Given the description of an element on the screen output the (x, y) to click on. 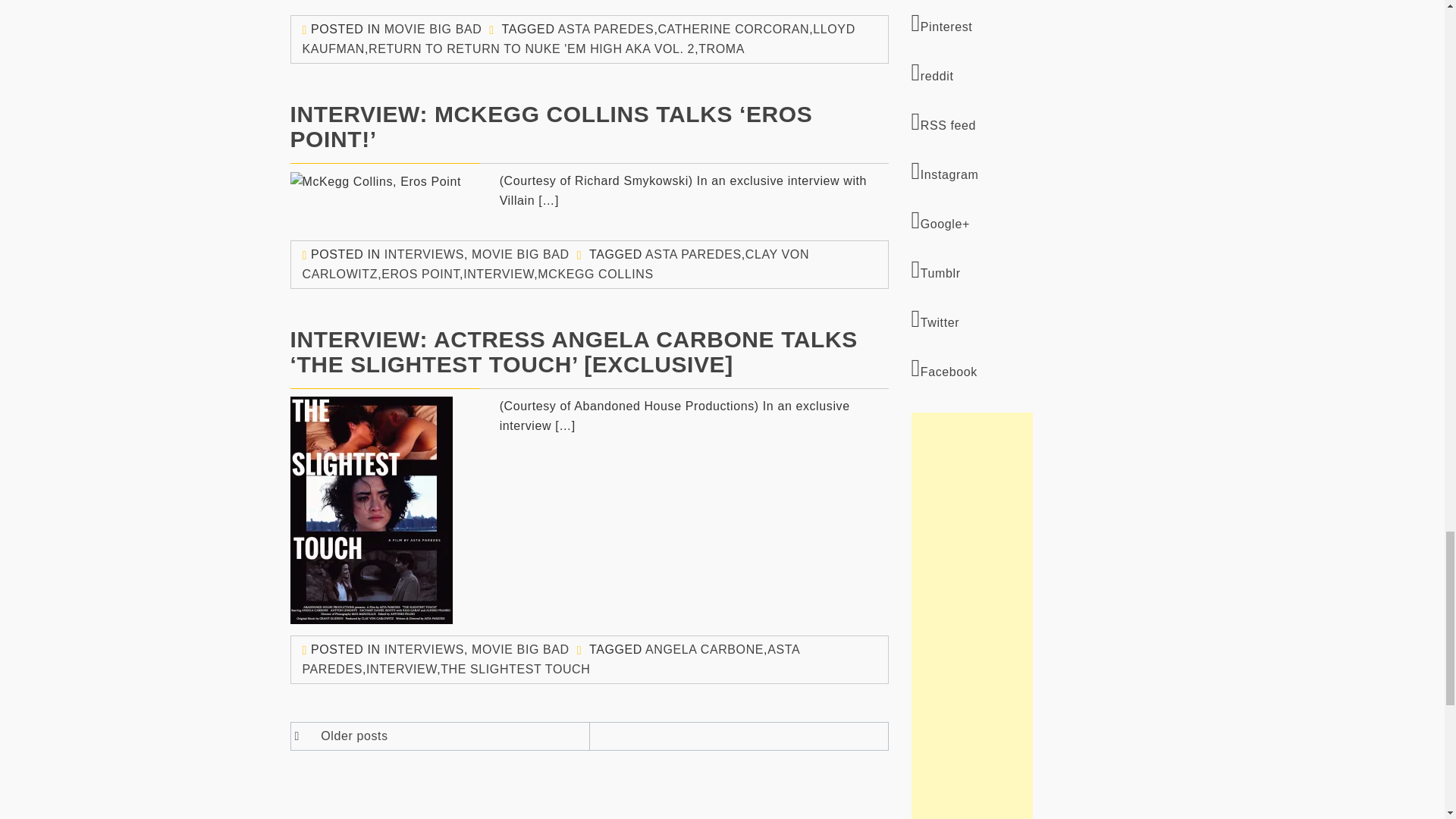
Visit Villain Media on Tumblr (1032, 270)
Visit Villain Media on reddit (1032, 72)
Visit Villain Media on RSS feed (1032, 121)
Visit Villain Media on Pinterest (1032, 23)
Visit Villain Media on Instagram (1032, 171)
